Given the description of an element on the screen output the (x, y) to click on. 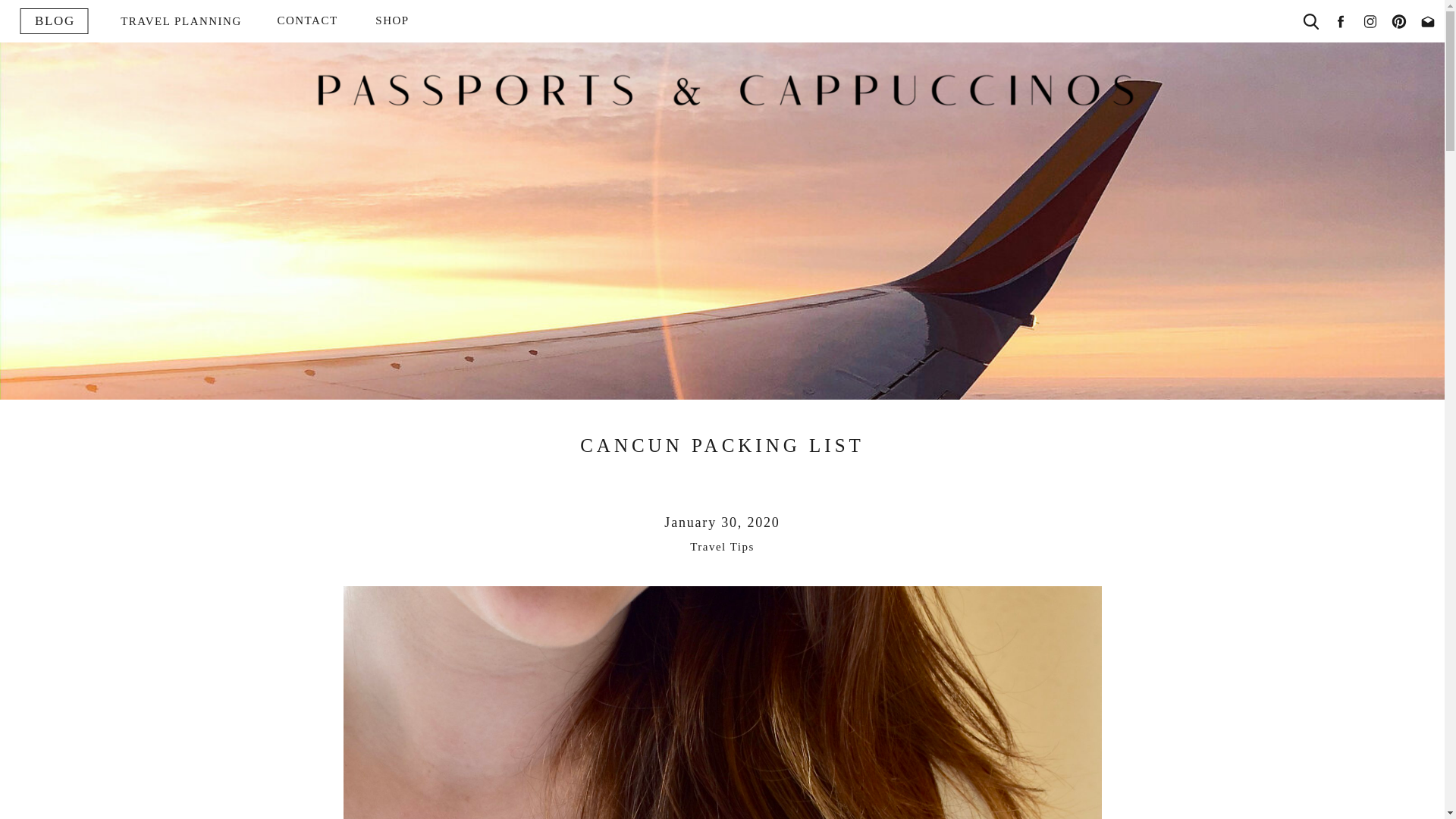
SHOP (392, 20)
CONTACT (307, 20)
Travel Tips (722, 546)
BLOG (54, 20)
